Given the description of an element on the screen output the (x, y) to click on. 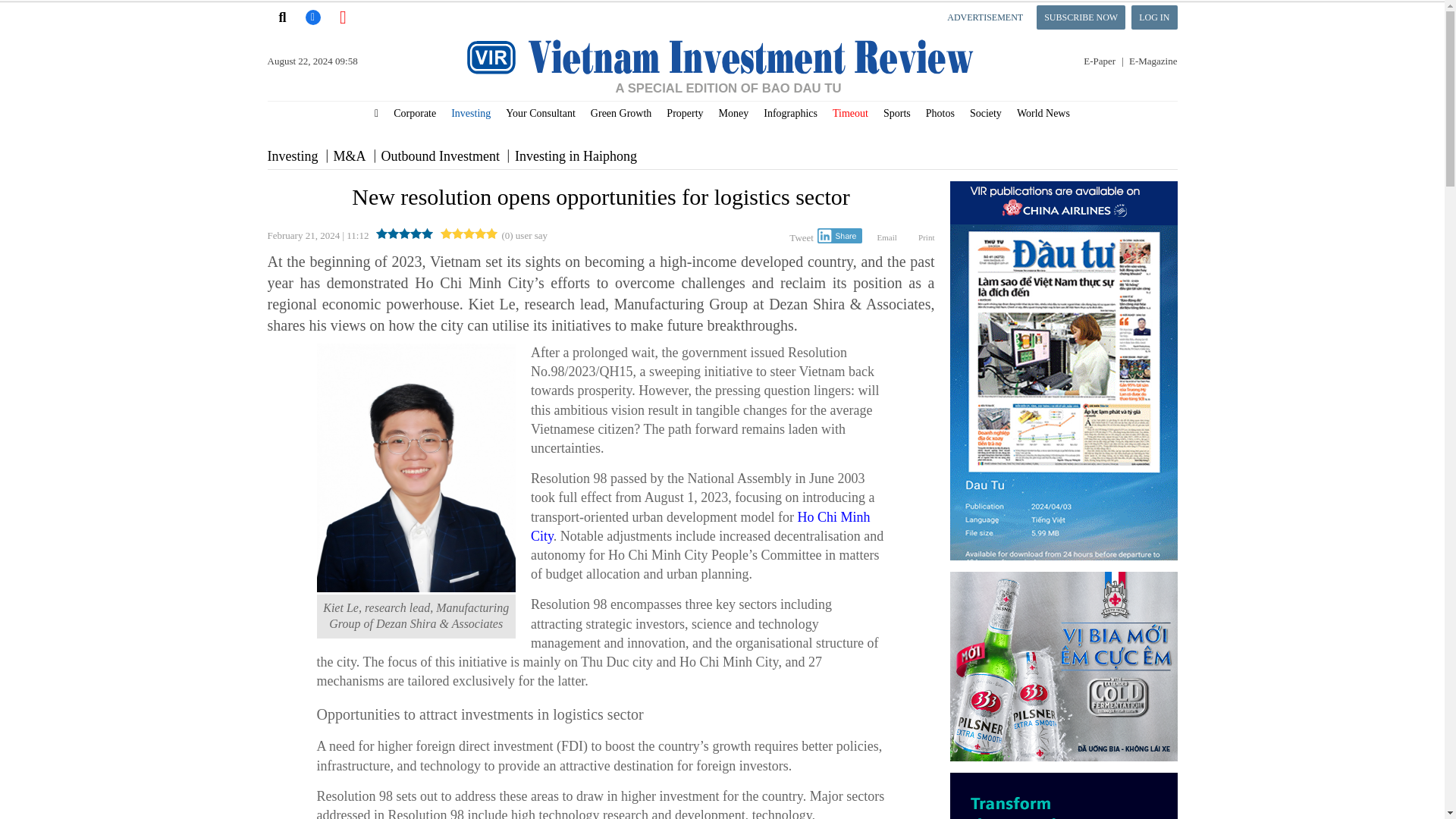
Money (734, 113)
Vietnam Investment Review - VIR (722, 96)
Property (684, 113)
Outbound Investment (440, 155)
E-Paper (1102, 60)
Timeout (850, 113)
LOG IN (1153, 16)
ADVERTISEMENT (984, 16)
Corporate (414, 113)
Investing in Haiphong (576, 155)
